Given the description of an element on the screen output the (x, y) to click on. 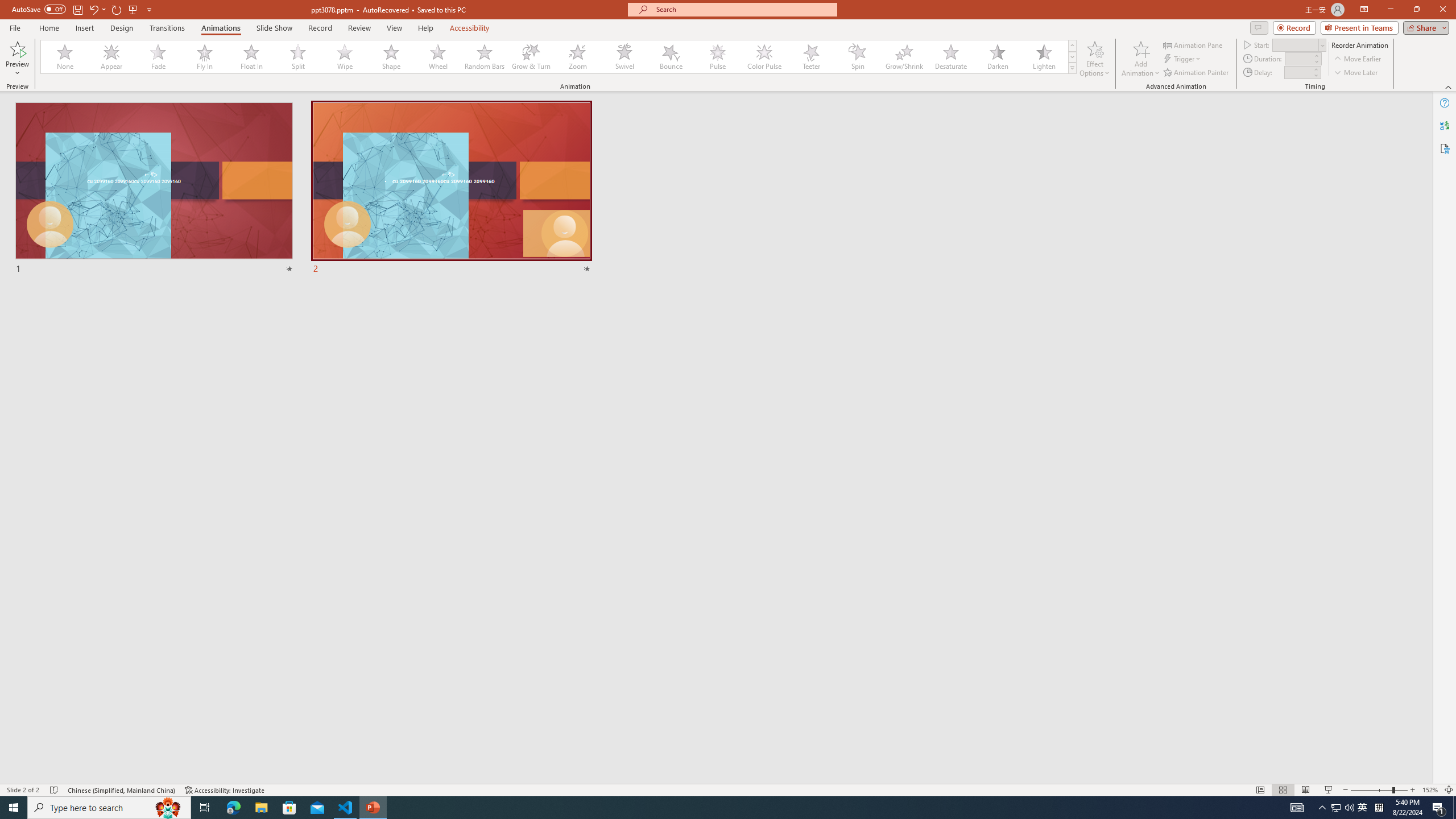
Pulse (717, 56)
Fade (158, 56)
Fly In (205, 56)
Desaturate (950, 56)
Move Earlier (1357, 58)
Appear (111, 56)
Animation Pane (1193, 44)
